Given the description of an element on the screen output the (x, y) to click on. 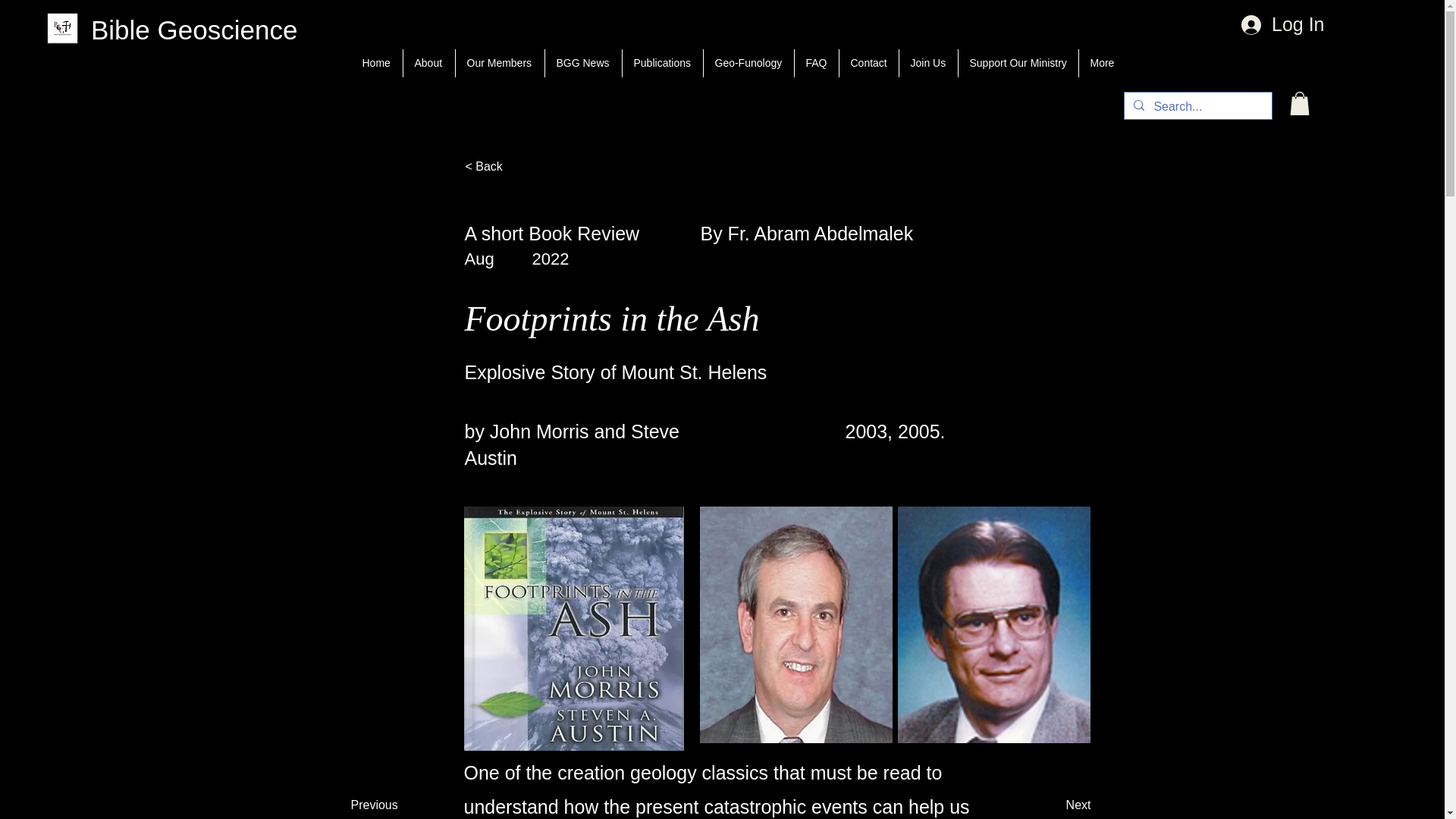
Book Cover.jpg (574, 628)
About (428, 62)
Publications (661, 62)
FAQ (816, 62)
Contact (868, 62)
Home (375, 62)
Join Us (928, 62)
Support Our Ministry (1018, 62)
Previous (388, 804)
BGG News (582, 62)
